Given the description of an element on the screen output the (x, y) to click on. 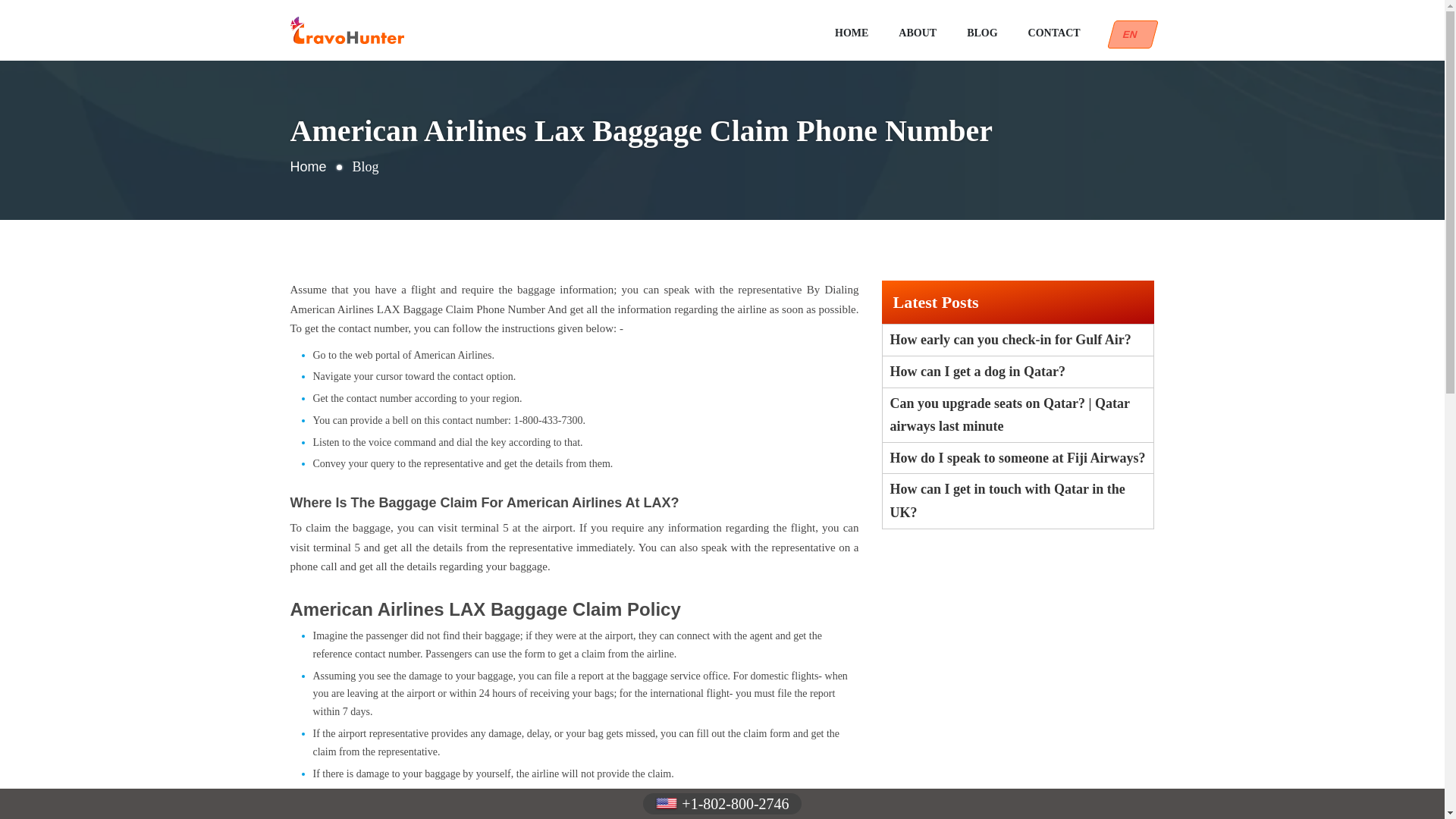
CONTACT (1053, 32)
ABOUT (917, 32)
How can I get a dog in Qatar? (1018, 371)
How early can you check-in for Gulf Air? (1018, 339)
BLOG (981, 32)
HOME (850, 32)
Home (307, 167)
EN   (1128, 34)
How do I speak to someone at Fiji Airways? (1018, 458)
How can I get in touch with Qatar in the UK? (1018, 500)
